Given the description of an element on the screen output the (x, y) to click on. 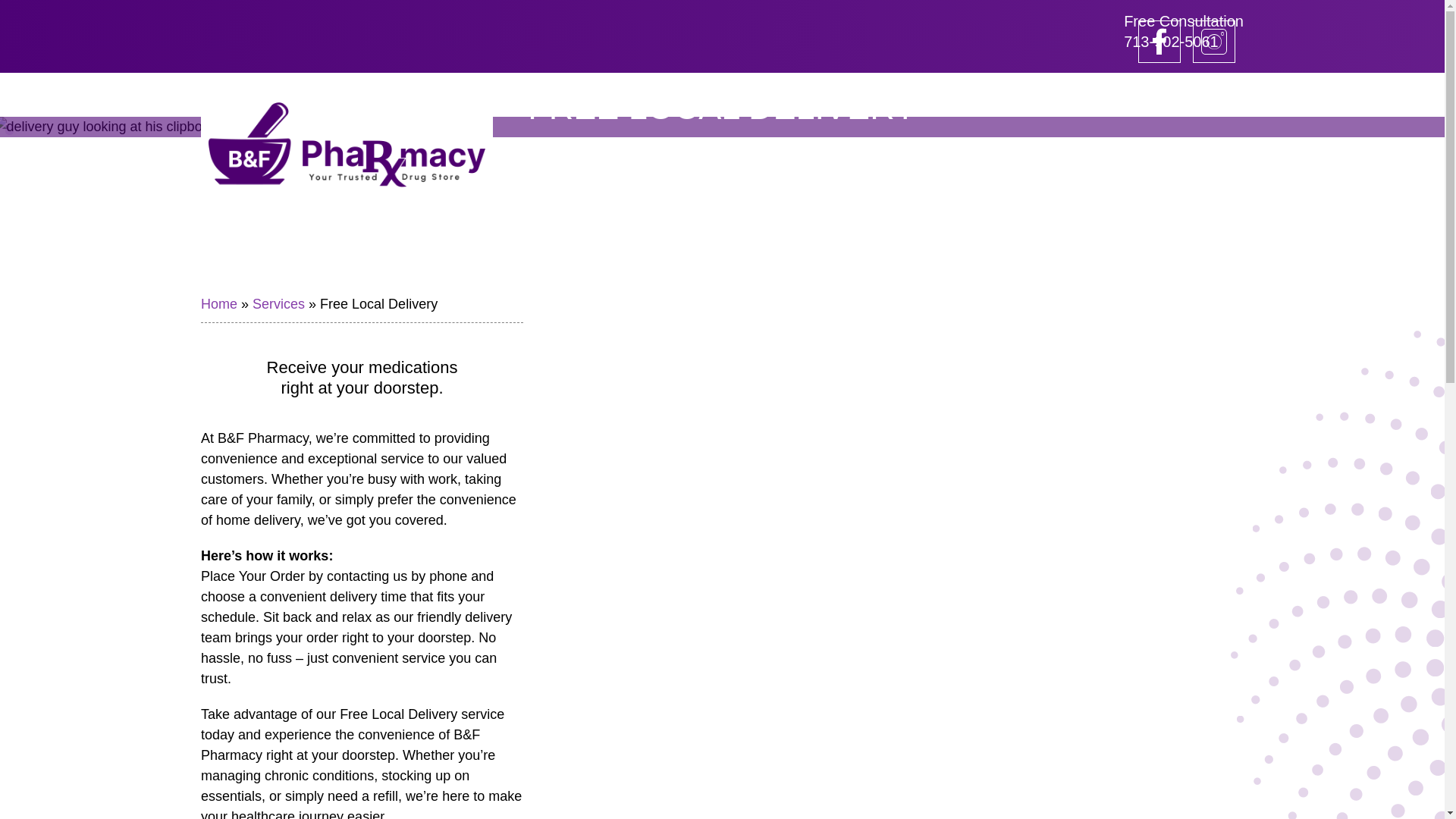
Home (218, 304)
Contact Us (822, 94)
Blog (729, 94)
Careers (644, 94)
Services (277, 304)
Home (239, 94)
Services (1183, 32)
Community (432, 94)
About Us (539, 94)
